Given the description of an element on the screen output the (x, y) to click on. 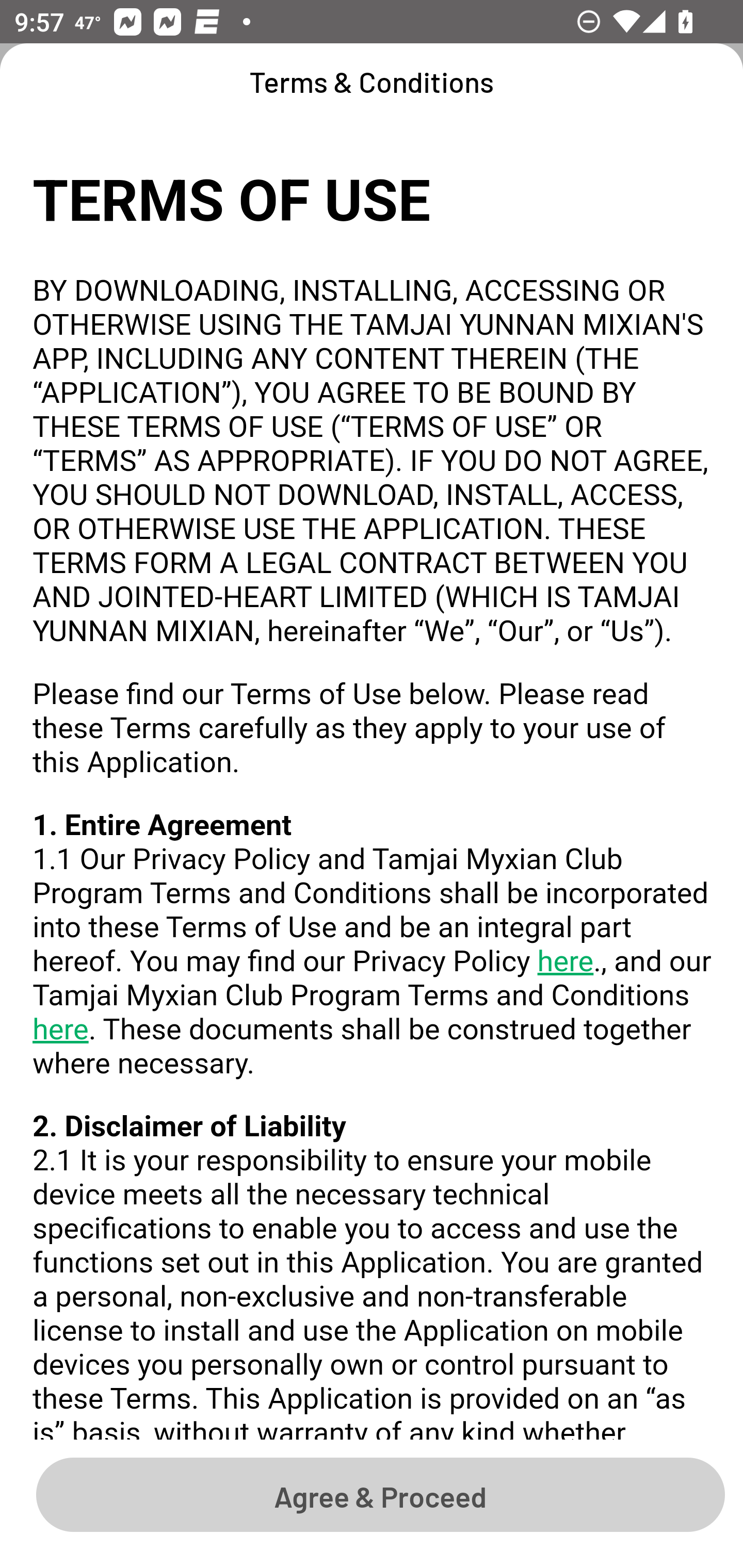
here (564, 961)
here (61, 1030)
Agree & Proceed (380, 1494)
